Given the description of an element on the screen output the (x, y) to click on. 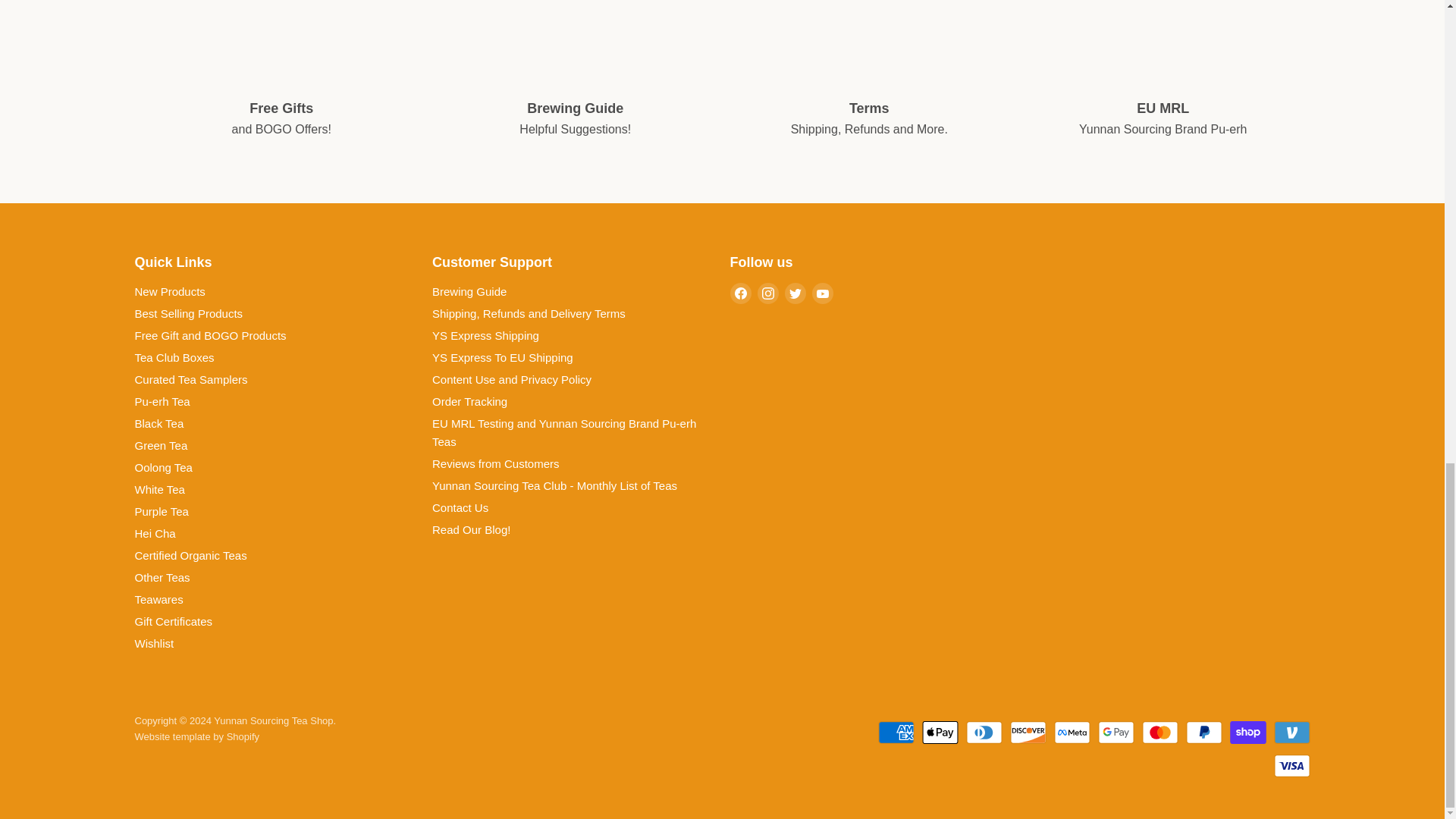
YouTube (821, 292)
Twitter (794, 292)
Instagram (767, 292)
Facebook (740, 292)
